Given the description of an element on the screen output the (x, y) to click on. 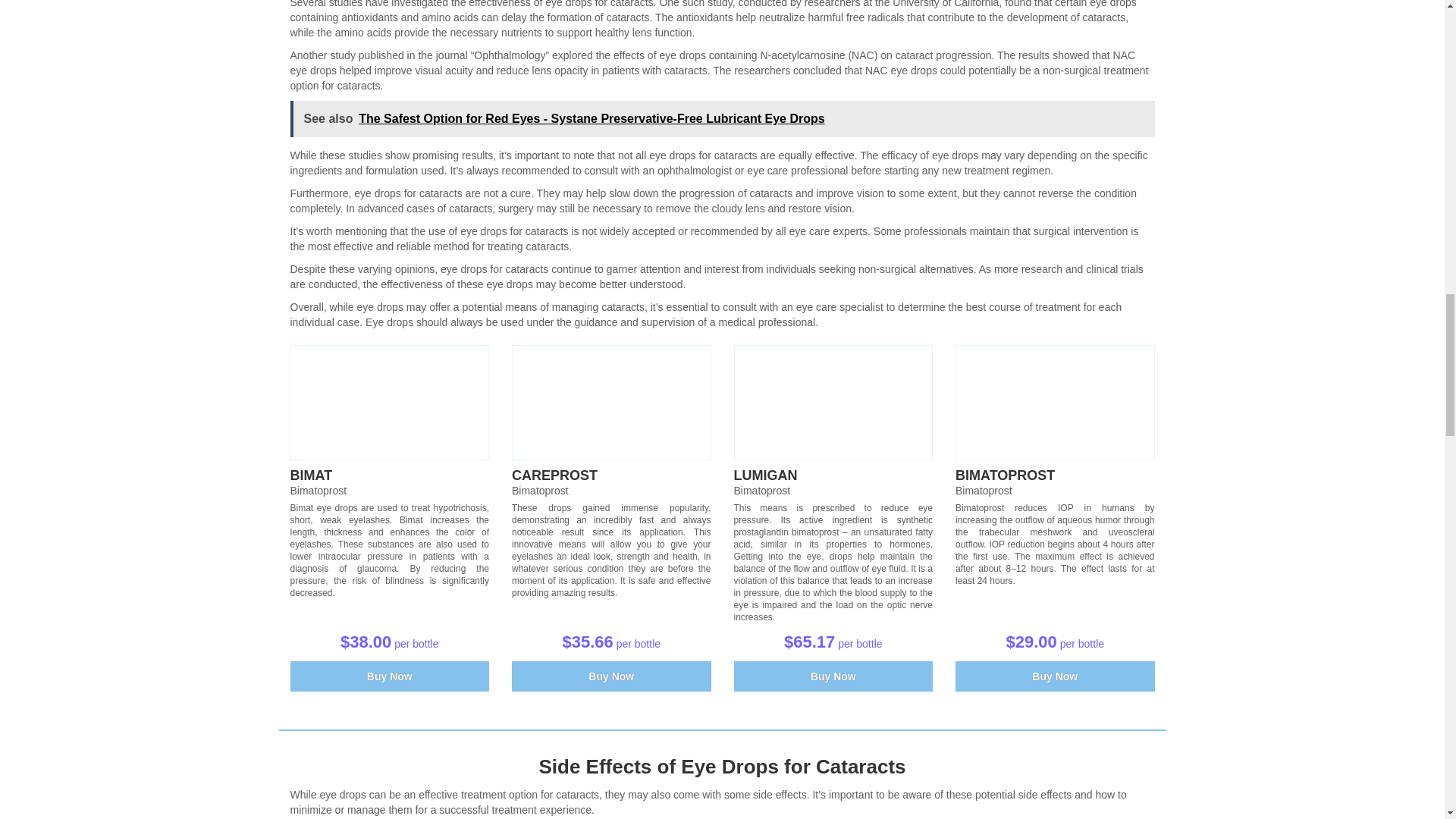
Buy Now (389, 675)
Buy Now (1054, 675)
Careprost (611, 402)
Bimat (389, 402)
Buy Now (833, 675)
Buy Now (611, 675)
Bimat (310, 475)
BIMATOPROST (1004, 475)
Buy Now (389, 675)
Buy Now (611, 675)
Lumigan (833, 402)
Careprost (554, 475)
LUMIGAN (765, 475)
CAREPROST (554, 475)
BIMAT (310, 475)
